Given the description of an element on the screen output the (x, y) to click on. 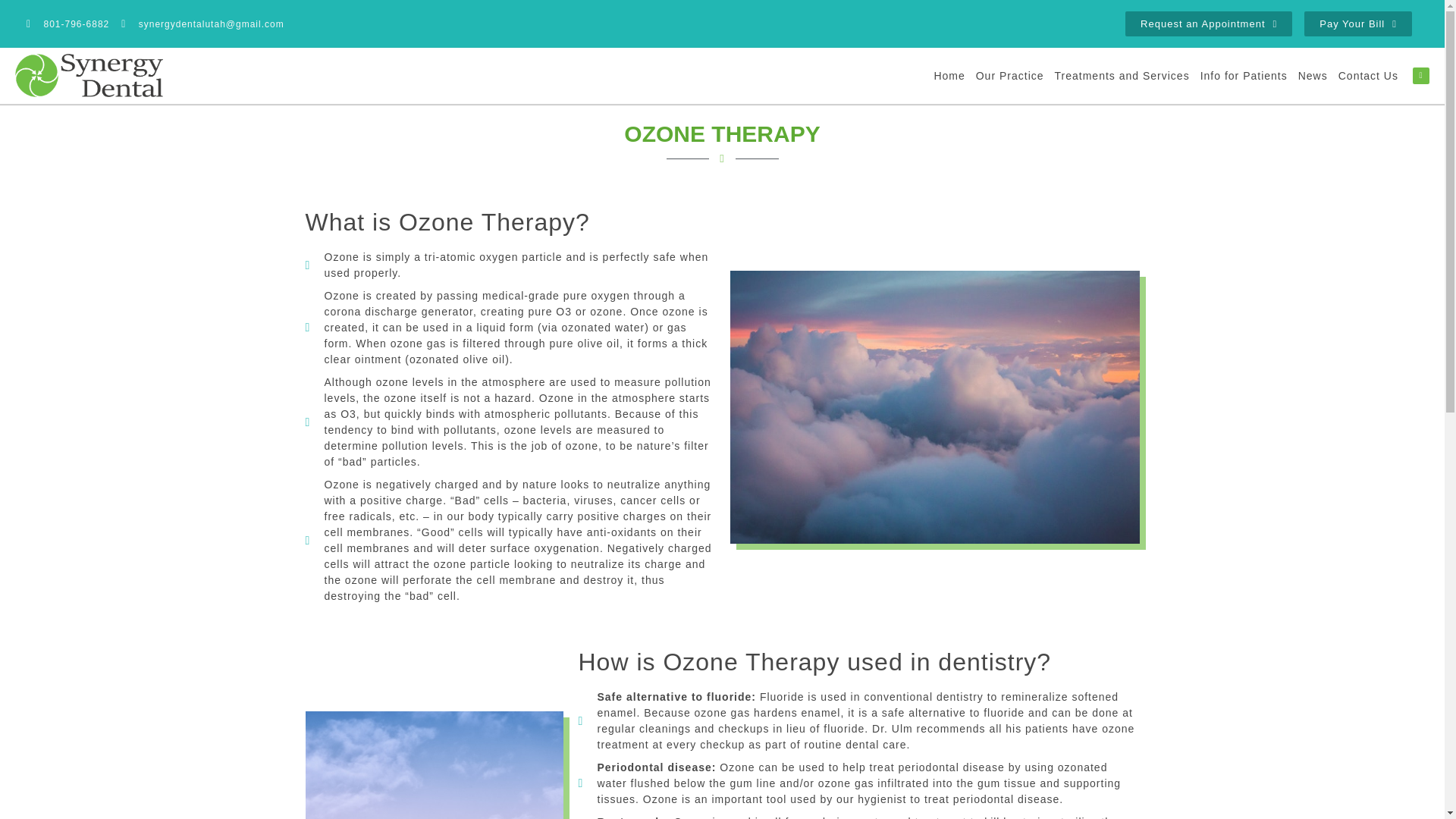
Contact Us (1368, 75)
Treatments and Services (1122, 75)
Home (948, 75)
Our Practice (1010, 75)
Pay Your Bill (1358, 23)
News (1312, 75)
Info for Patients (1244, 75)
Request an Appointment (1208, 23)
